Given the description of an element on the screen output the (x, y) to click on. 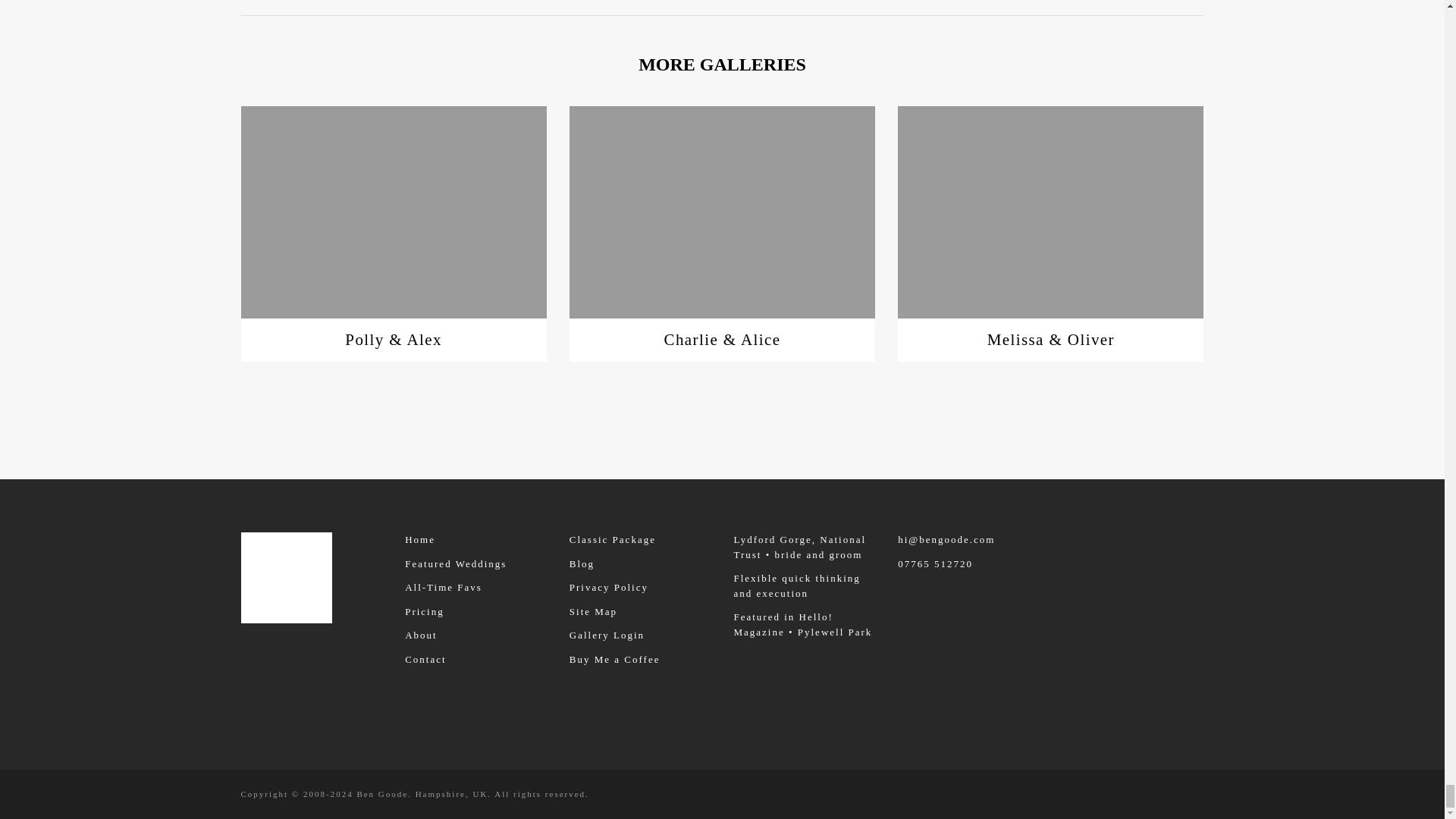
Buy Me a Coffee (615, 659)
Privacy Policy (608, 586)
Blog (581, 563)
Gallery Login (607, 634)
Classic Package (612, 539)
Contact (424, 659)
Site Map (593, 611)
Home (419, 539)
Pricing (424, 611)
About (421, 634)
